Given the description of an element on the screen output the (x, y) to click on. 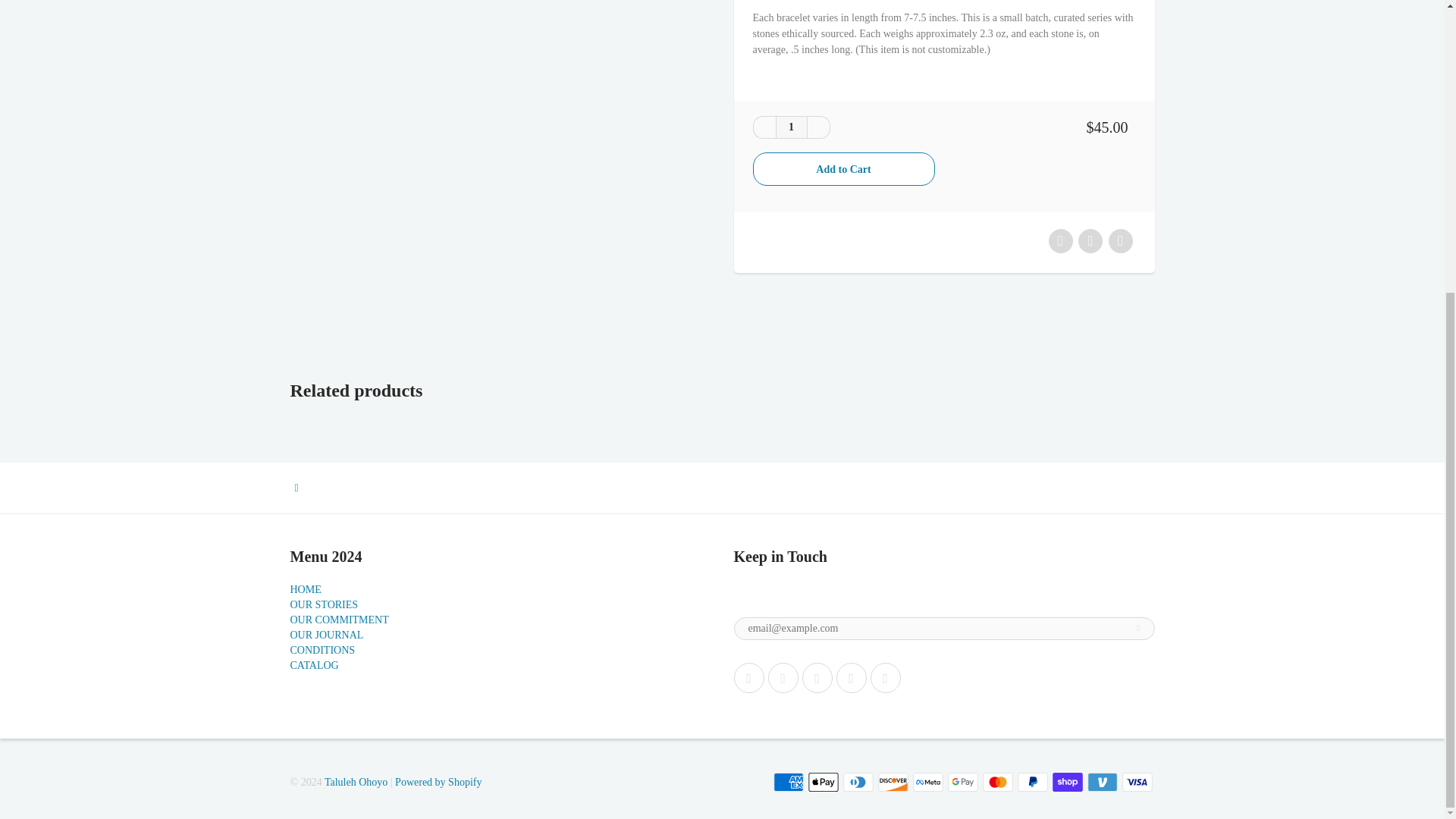
American Express (788, 782)
Google Pay (962, 782)
Vimeo (885, 677)
YouTube (850, 677)
Meta Pay (927, 782)
Venmo (1102, 782)
Instagram (817, 677)
Visa (1137, 782)
Mastercard (997, 782)
Twitter (748, 677)
Shop Pay (1067, 782)
Apple Pay (823, 782)
Add to Cart (843, 168)
Diners Club (858, 782)
Discover (892, 782)
